Given the description of an element on the screen output the (x, y) to click on. 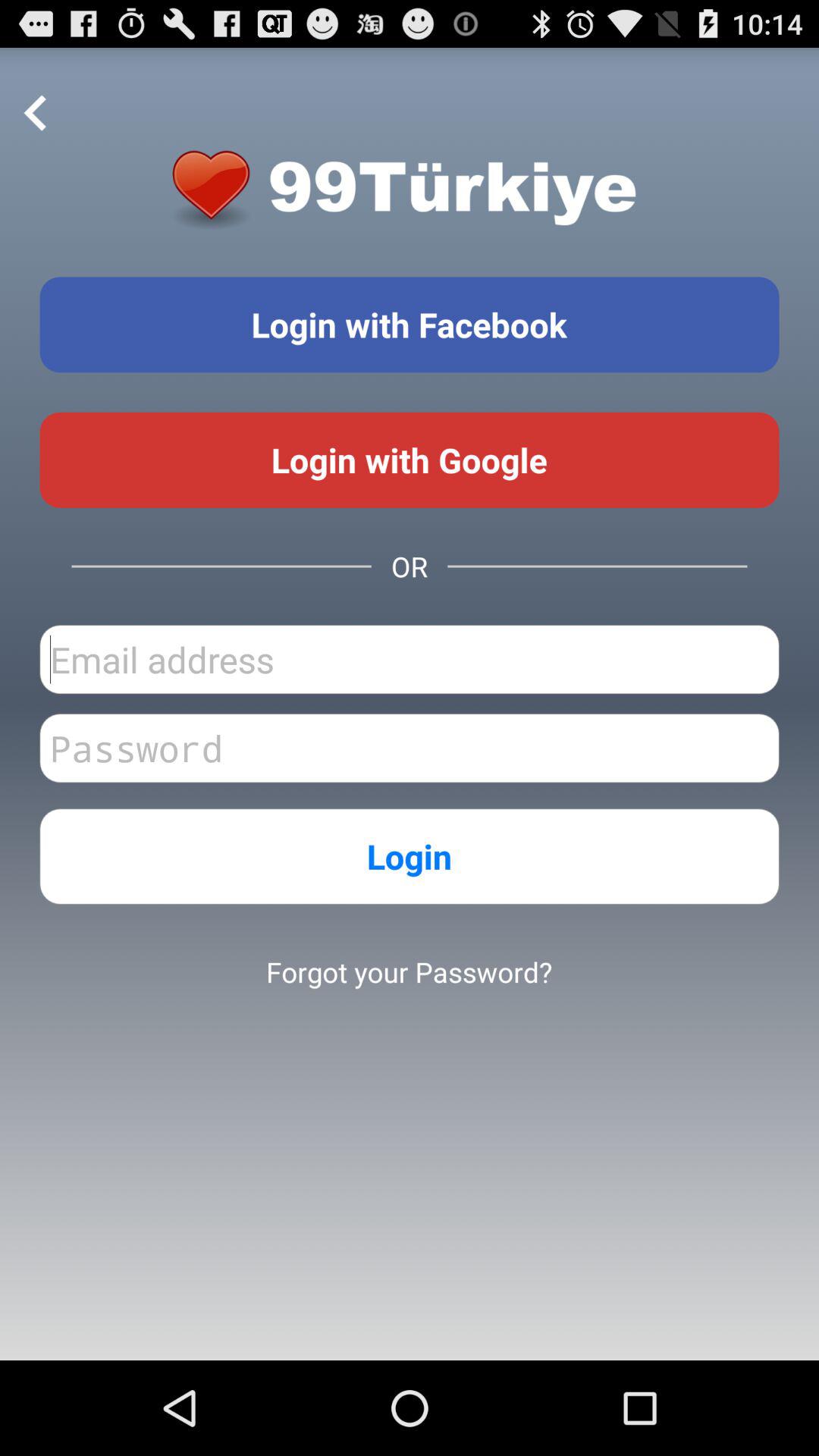
choose forgot your password? item (409, 971)
